Given the description of an element on the screen output the (x, y) to click on. 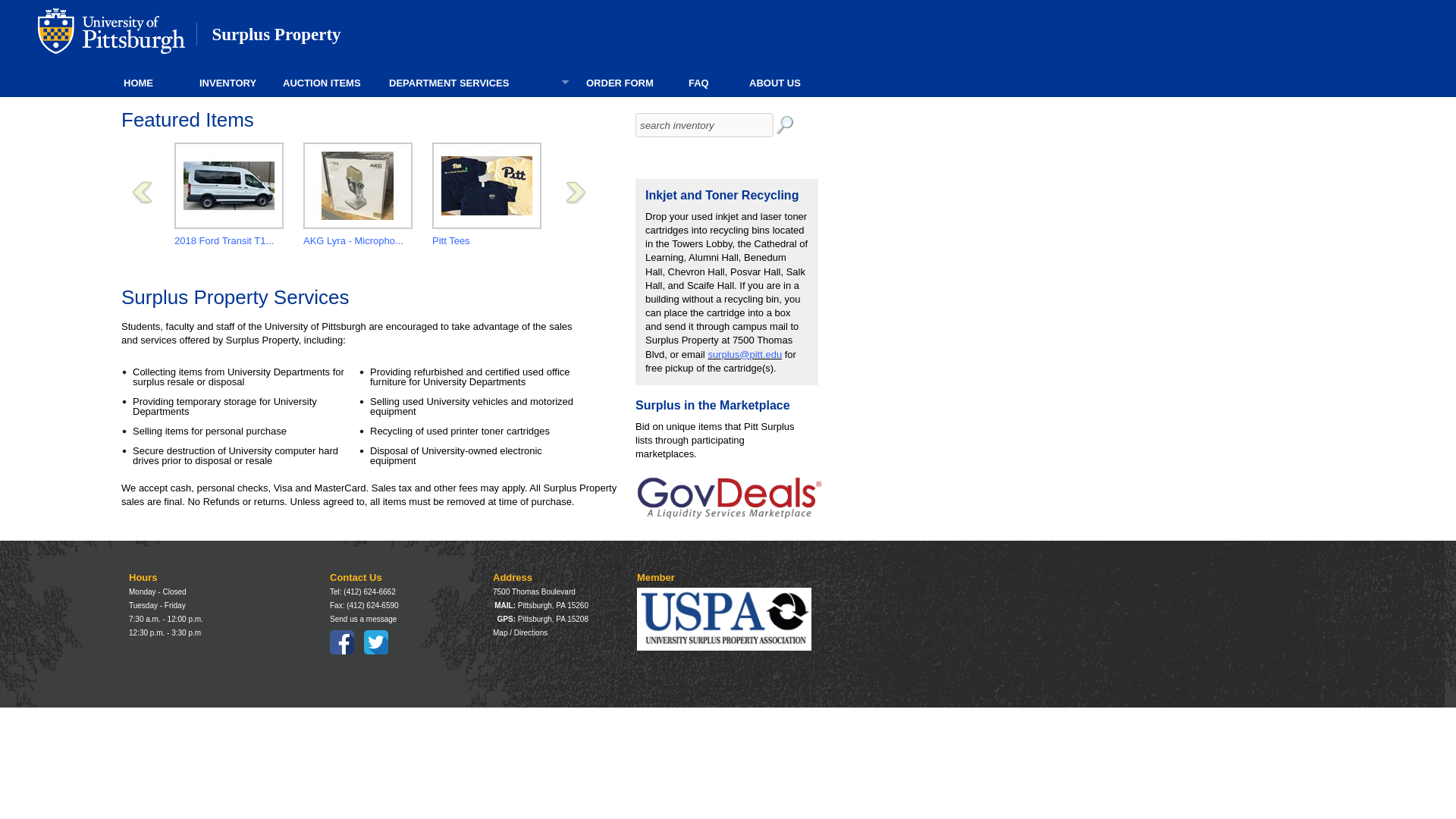
AUCTION ITEMS (325, 83)
FAQ (708, 83)
ORDER FORM (627, 83)
search inventory (703, 125)
2018 Ford Transit T1... (223, 240)
INVENTORY (231, 83)
HOME (151, 83)
Pitt Tees (451, 240)
ABOUT US (790, 83)
AKG Lyra - Micropho... (352, 240)
